Given the description of an element on the screen output the (x, y) to click on. 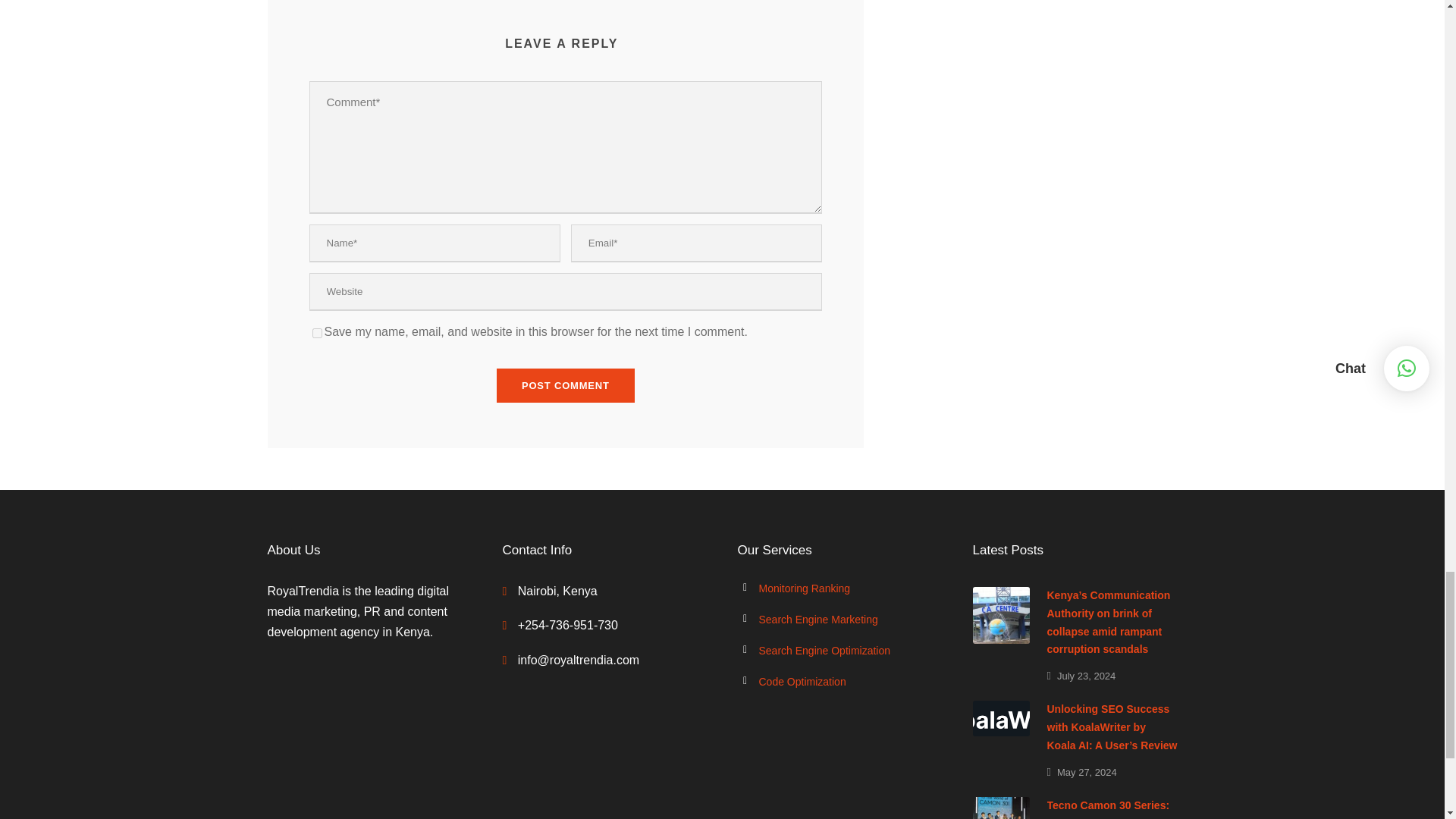
Post Comment (565, 385)
yes (317, 333)
